Given the description of an element on the screen output the (x, y) to click on. 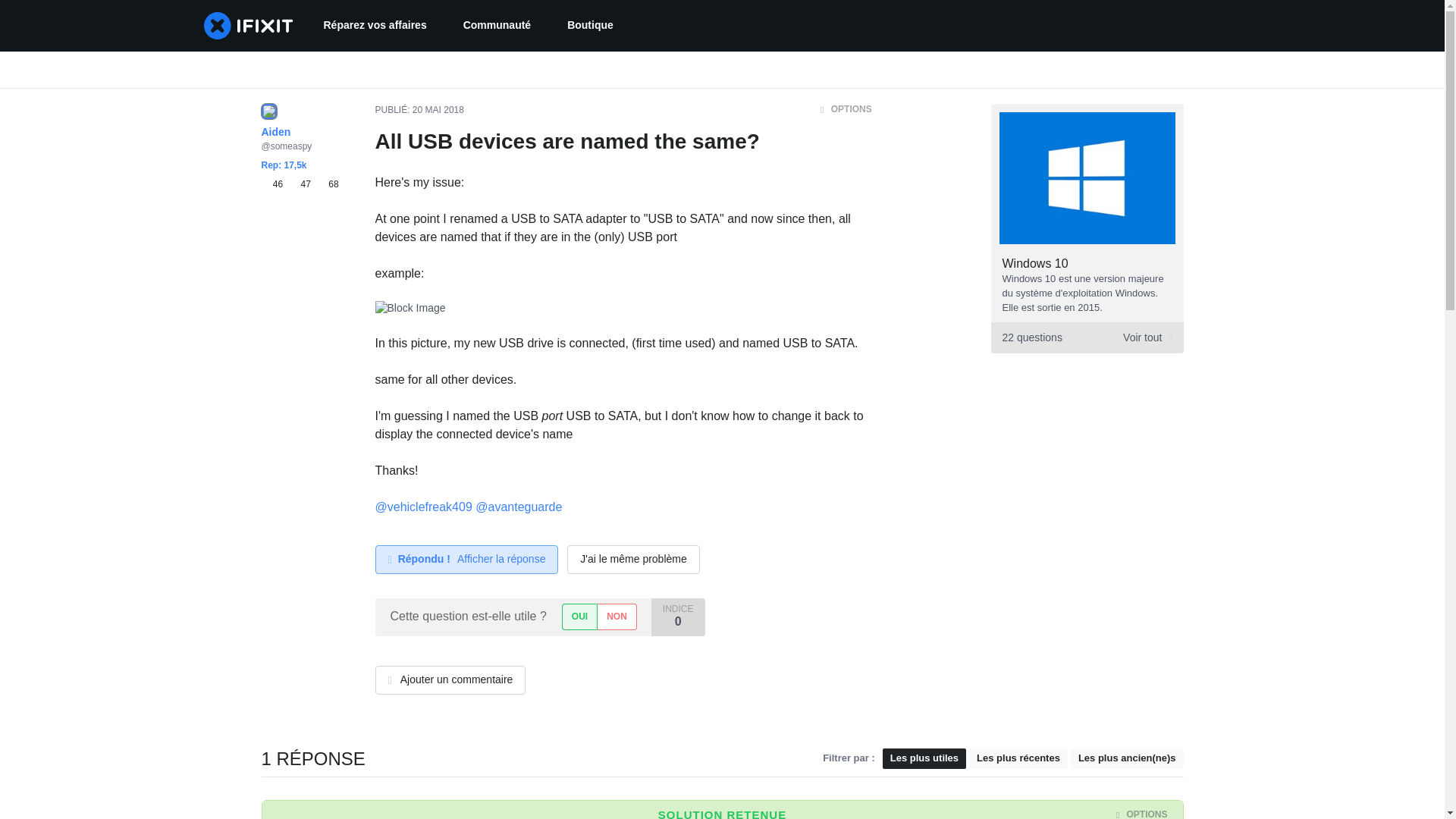
46 badges Bronze (274, 184)
OUI (579, 616)
68 badges Or (328, 184)
Boutique (589, 25)
Les plus utiles (924, 758)
47 badges Argent (302, 184)
Sun, 20 May 2018 13:31:50 -0700 (438, 109)
Ajouter un commentaire (449, 679)
Windows 10 (1035, 263)
NON (1086, 337)
46 47 68 (616, 616)
